Given the description of an element on the screen output the (x, y) to click on. 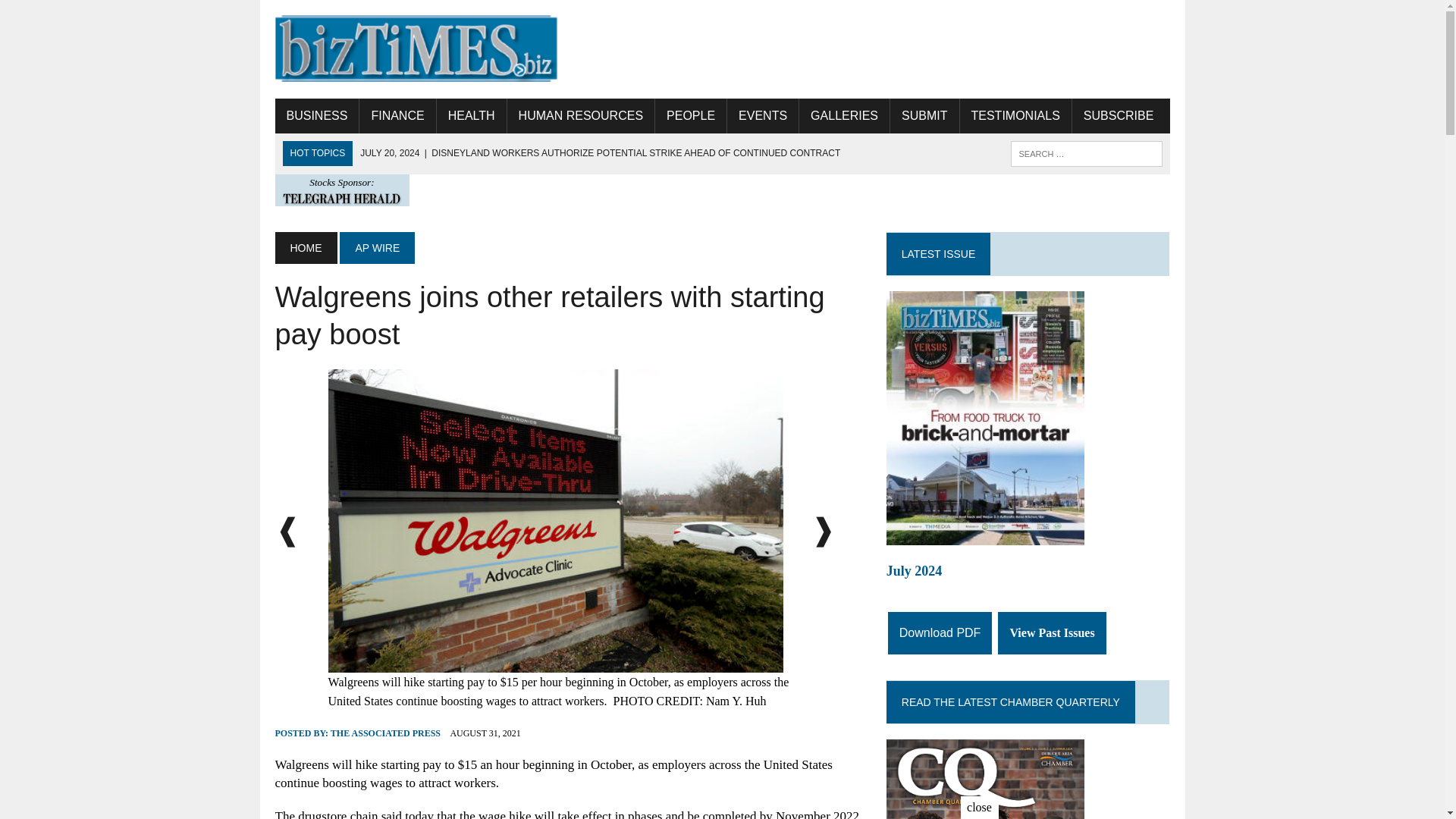
BUSINESS (316, 115)
HEALTH (471, 115)
TESTIMONIALS (1015, 115)
FINANCE (397, 115)
SUBMIT (923, 115)
HUMAN RESOURCES (579, 115)
GALLERIES (844, 115)
3rd party ad content (893, 49)
SUBSCRIBE (1117, 115)
EVENTS (761, 115)
BizTimes.biz (416, 48)
PEOPLE (690, 115)
